Given the description of an element on the screen output the (x, y) to click on. 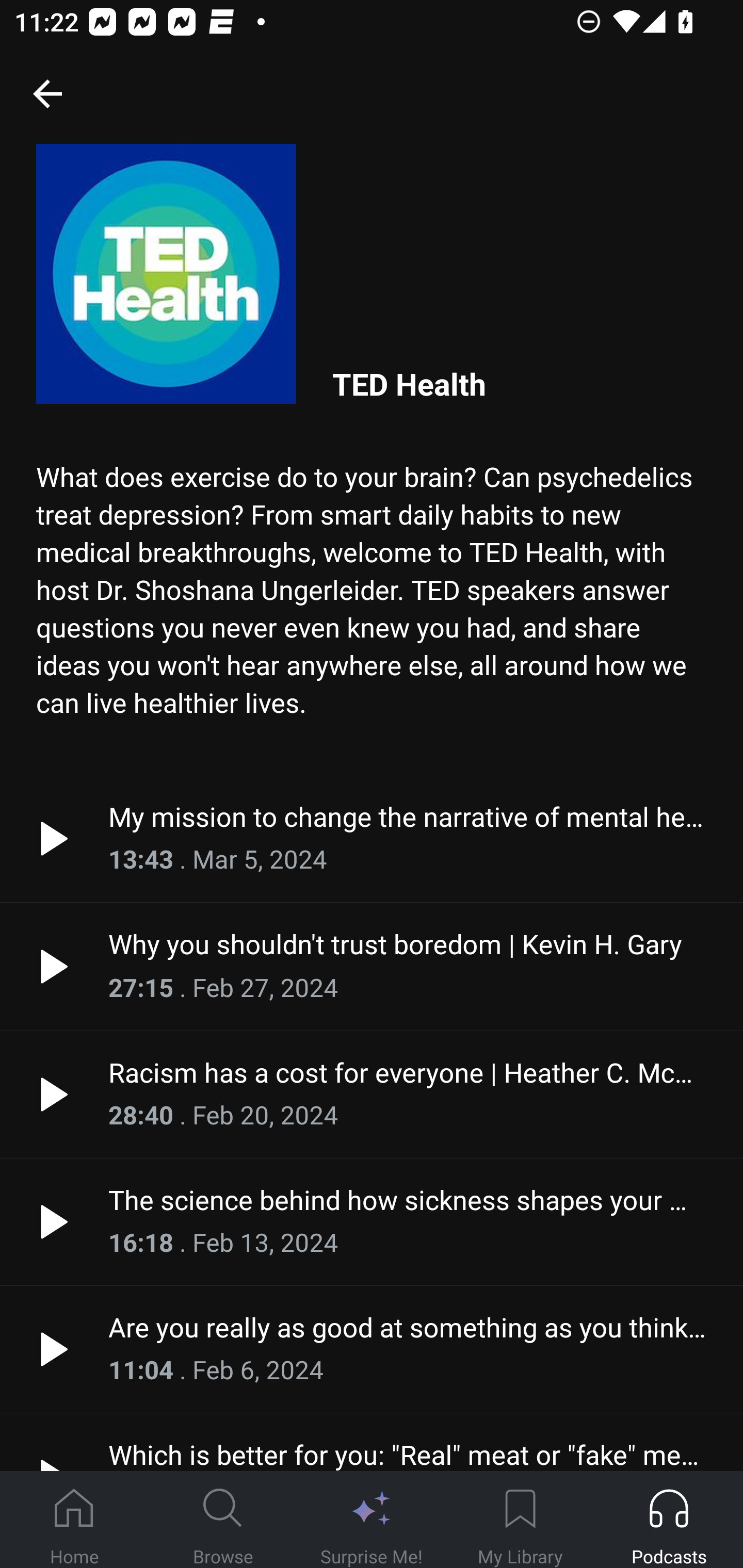
TED Podcasts, back (47, 92)
Home (74, 1520)
Browse (222, 1520)
Surprise Me! (371, 1520)
My Library (519, 1520)
Podcasts (668, 1520)
